Given the description of an element on the screen output the (x, y) to click on. 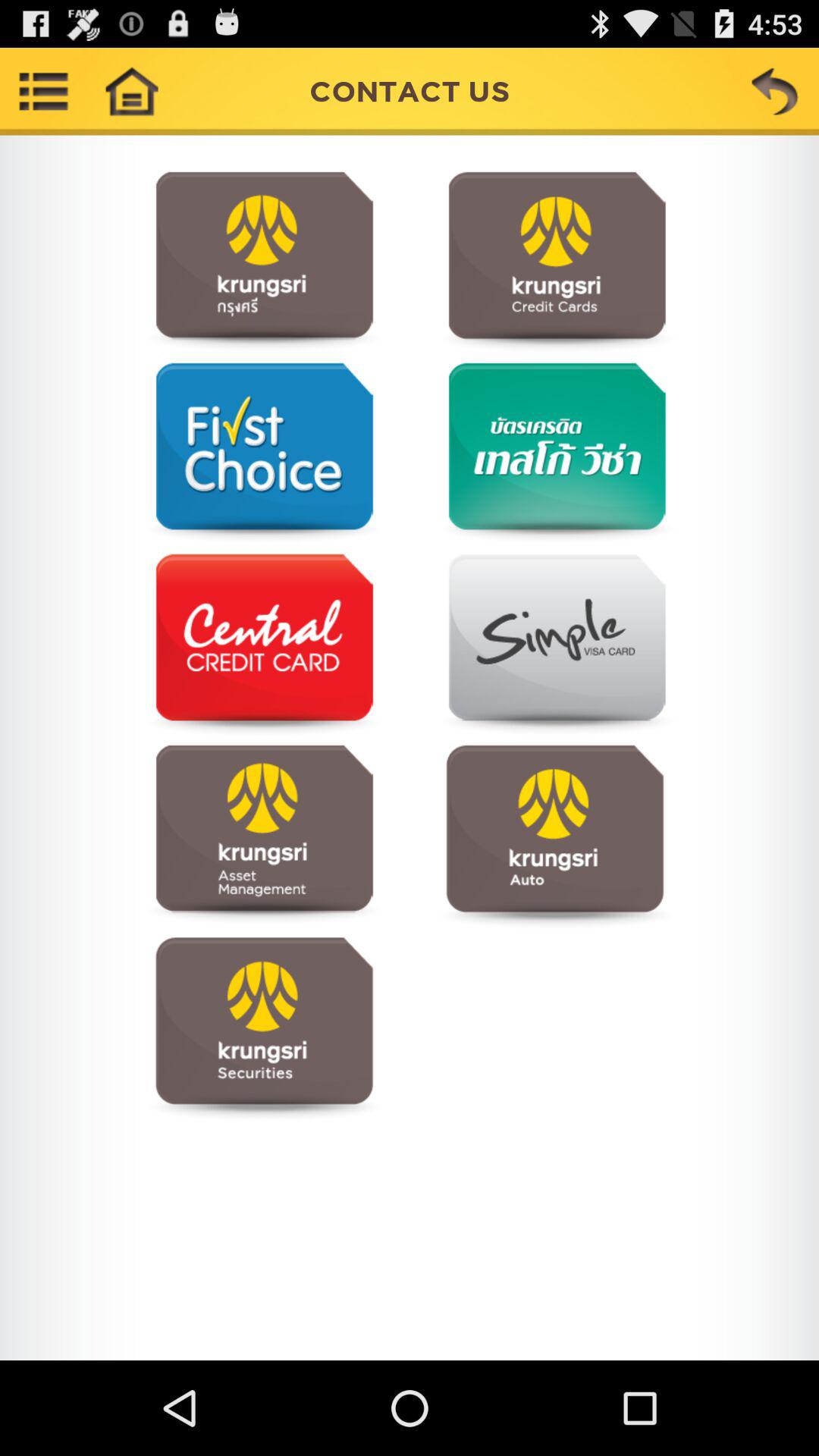
click to select contact option (263, 835)
